Given the description of an element on the screen output the (x, y) to click on. 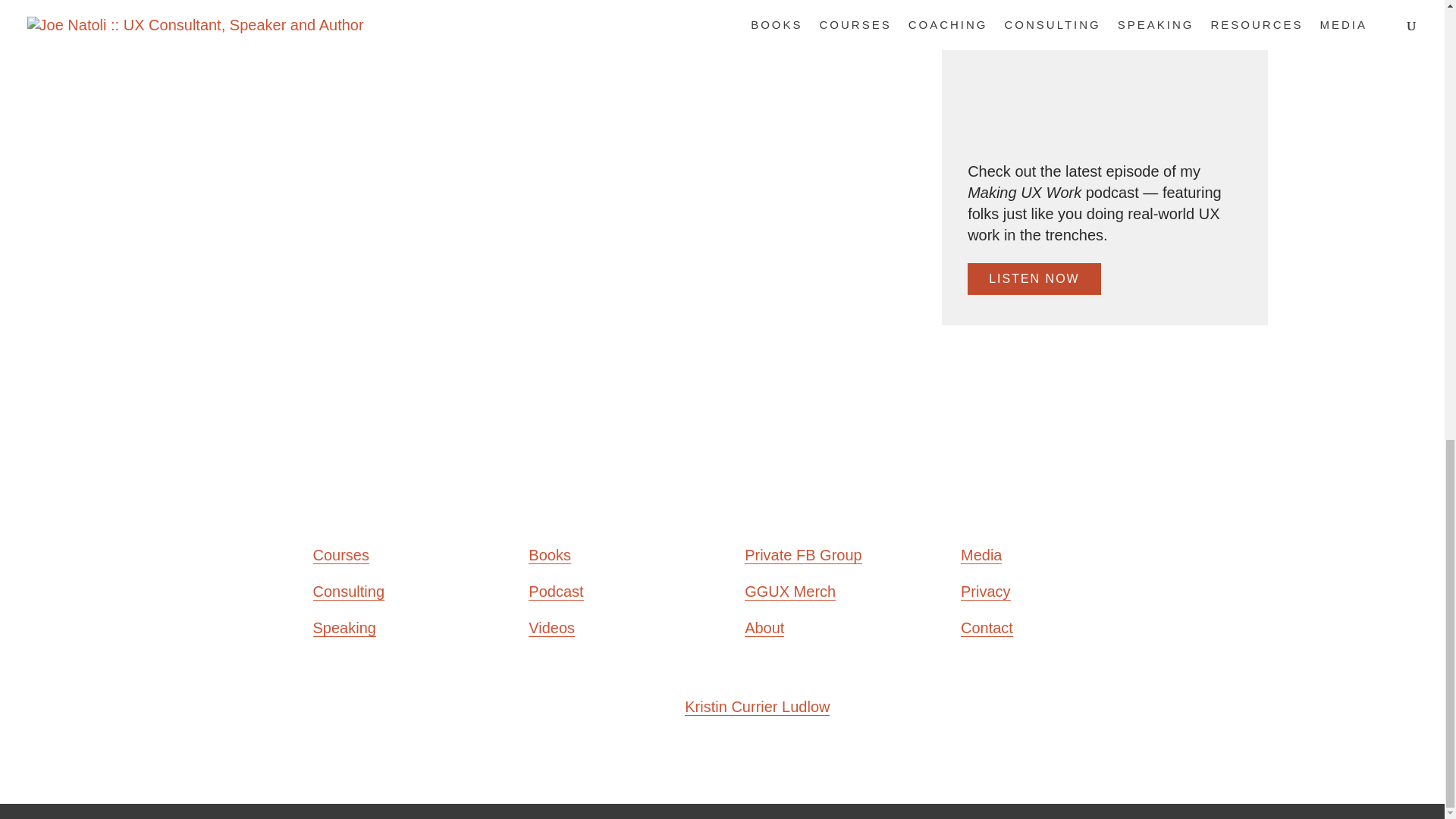
Videos (551, 628)
Privacy (985, 591)
Speaking (344, 628)
Media (980, 555)
Courses (340, 555)
Kristin Currier Ludlow (756, 706)
LISTEN NOW (1034, 278)
Consulting (348, 591)
Private FB Group (802, 555)
Podcast (555, 591)
Contact (986, 628)
GGUX Merch (789, 591)
Books (549, 555)
About (764, 628)
